Given the description of an element on the screen output the (x, y) to click on. 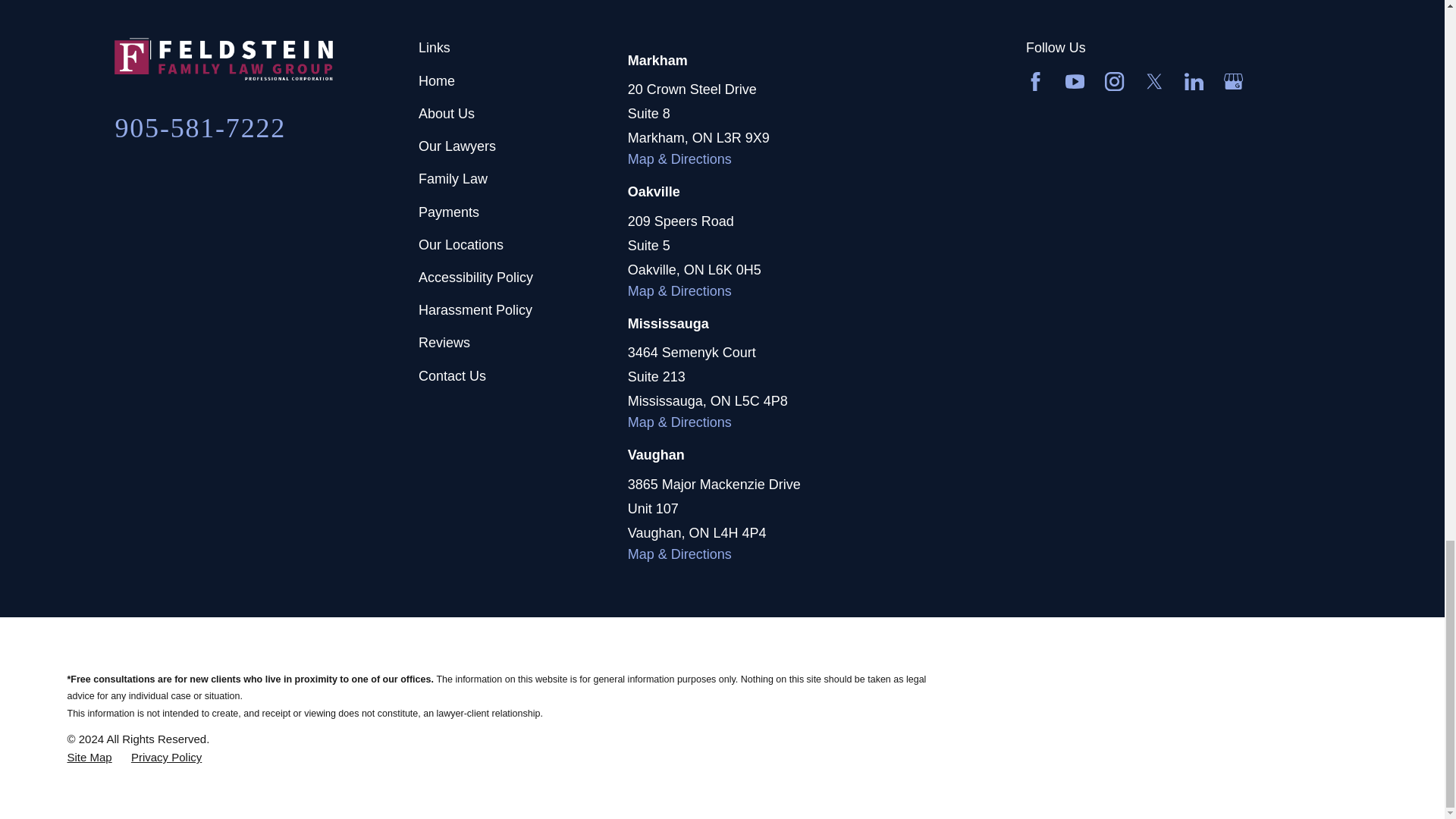
Facebook (1035, 81)
YouTube (1074, 81)
Instagram (1114, 81)
Twitter (1153, 81)
Home (267, 58)
